Given the description of an element on the screen output the (x, y) to click on. 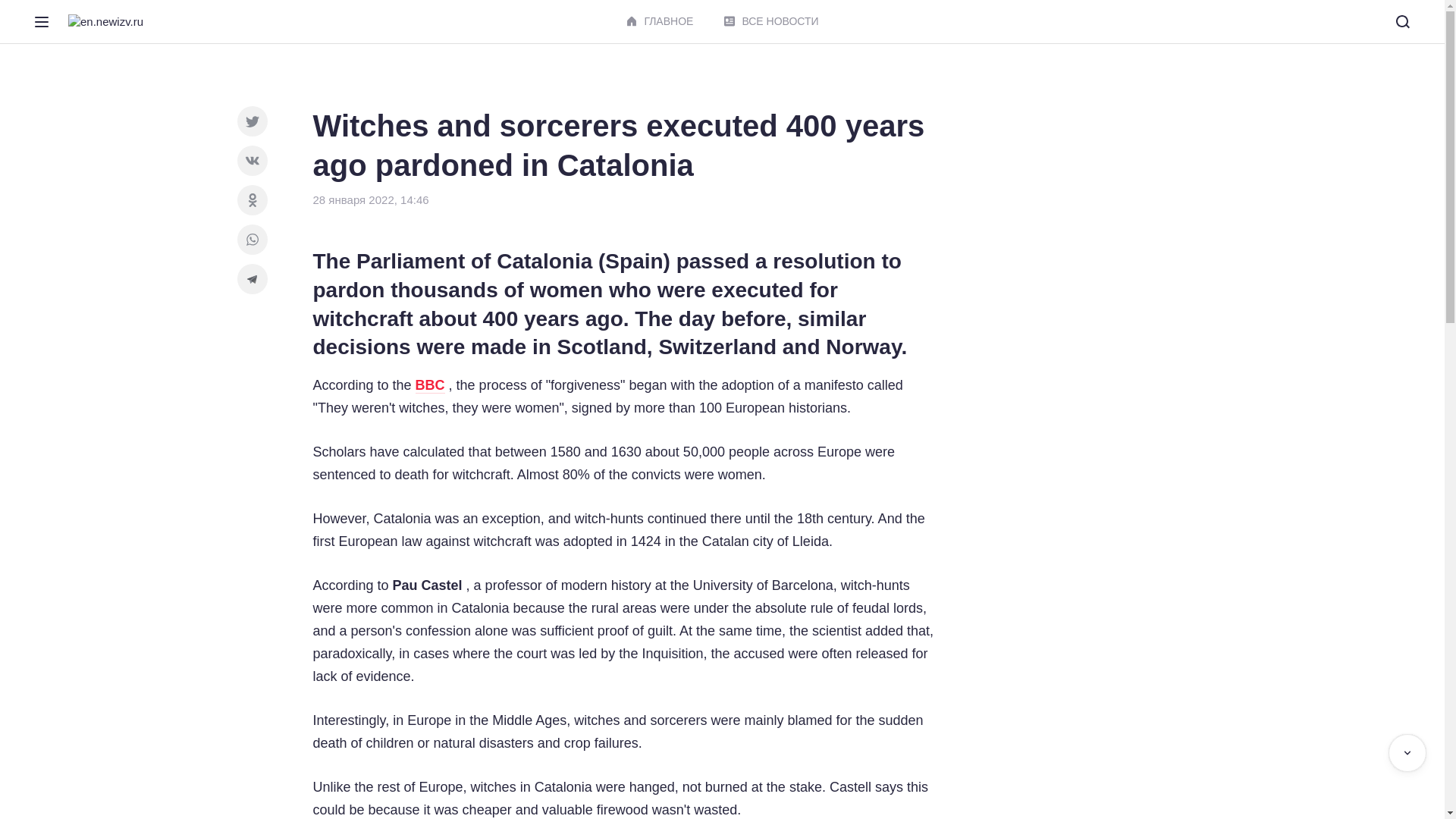
BBC (429, 385)
